Given the description of an element on the screen output the (x, y) to click on. 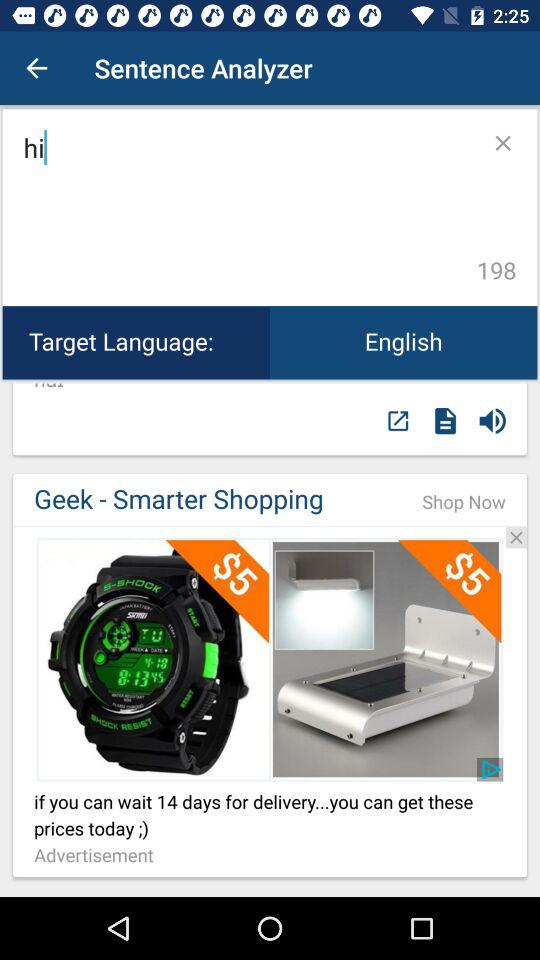
launch icon below if you can item (99, 855)
